Given the description of an element on the screen output the (x, y) to click on. 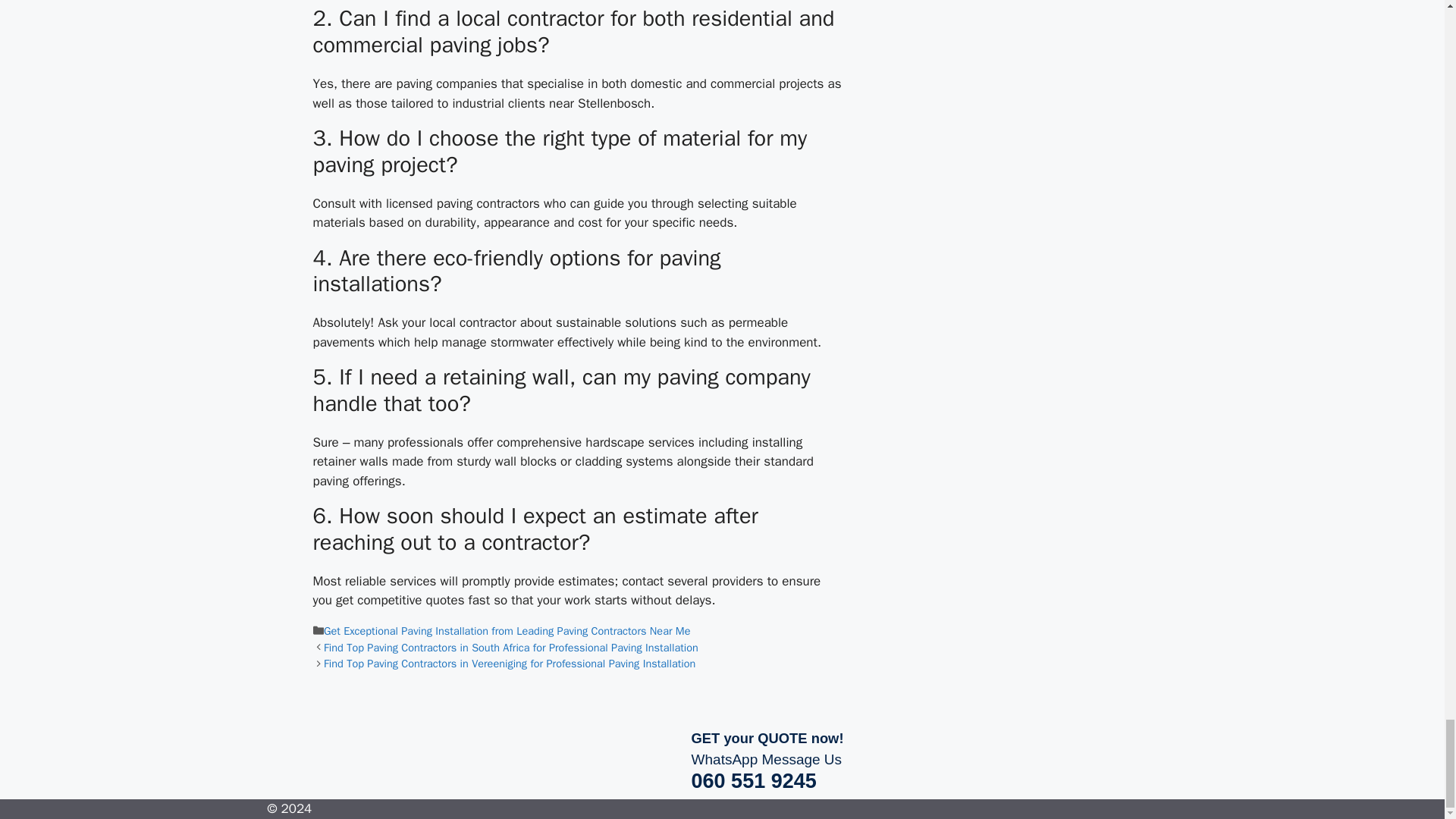
Next (509, 663)
Previous (510, 647)
